Given the description of an element on the screen output the (x, y) to click on. 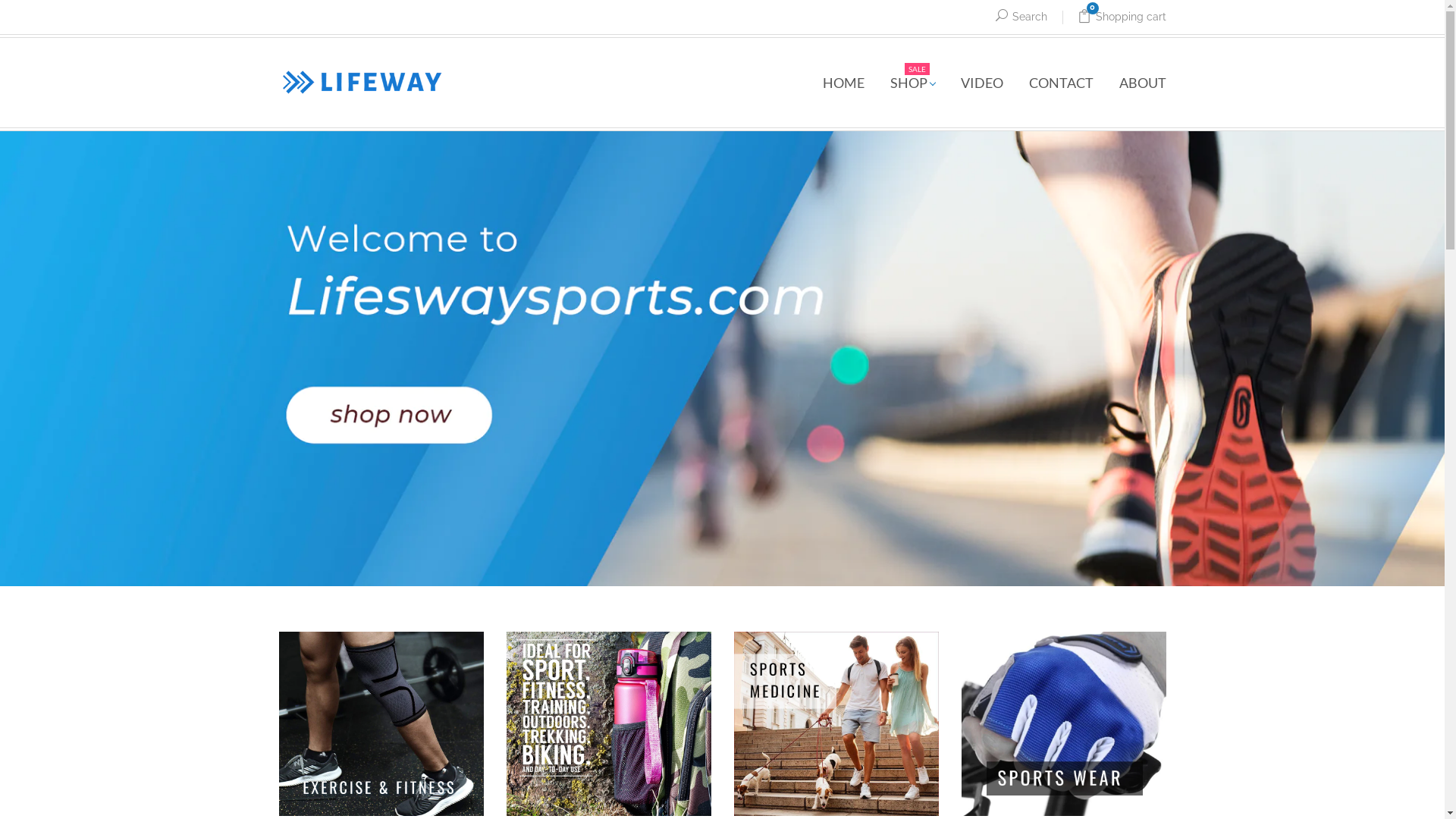
VIDEO Element type: text (981, 82)
Search Element type: text (1020, 18)
HOME Element type: text (843, 82)
ABOUT Element type: text (1135, 82)
SHOP
SALE Element type: text (911, 82)
CONTACT Element type: text (1061, 82)
Shopping cart
Cart
Cart
0 Element type: text (1113, 18)
